Given the description of an element on the screen output the (x, y) to click on. 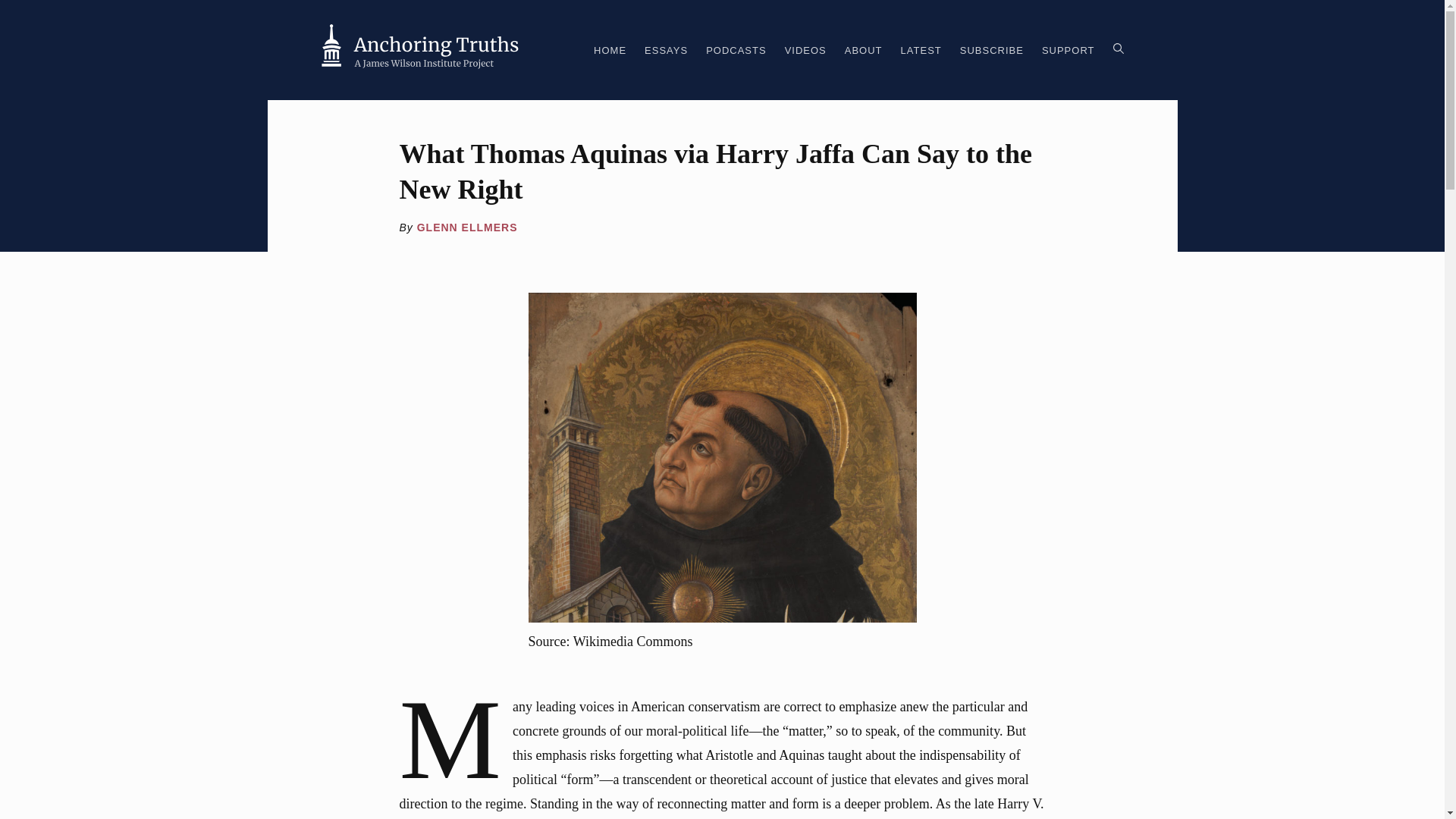
LATEST (921, 54)
SUBSCRIBE (991, 54)
GLENN ELLMERS (467, 227)
VIDEOS (805, 54)
PODCASTS (736, 54)
ABOUT (863, 54)
Anchoring Truths (419, 50)
HOME (610, 54)
ESSAYS (666, 54)
SUPPORT (1068, 54)
